Given the description of an element on the screen output the (x, y) to click on. 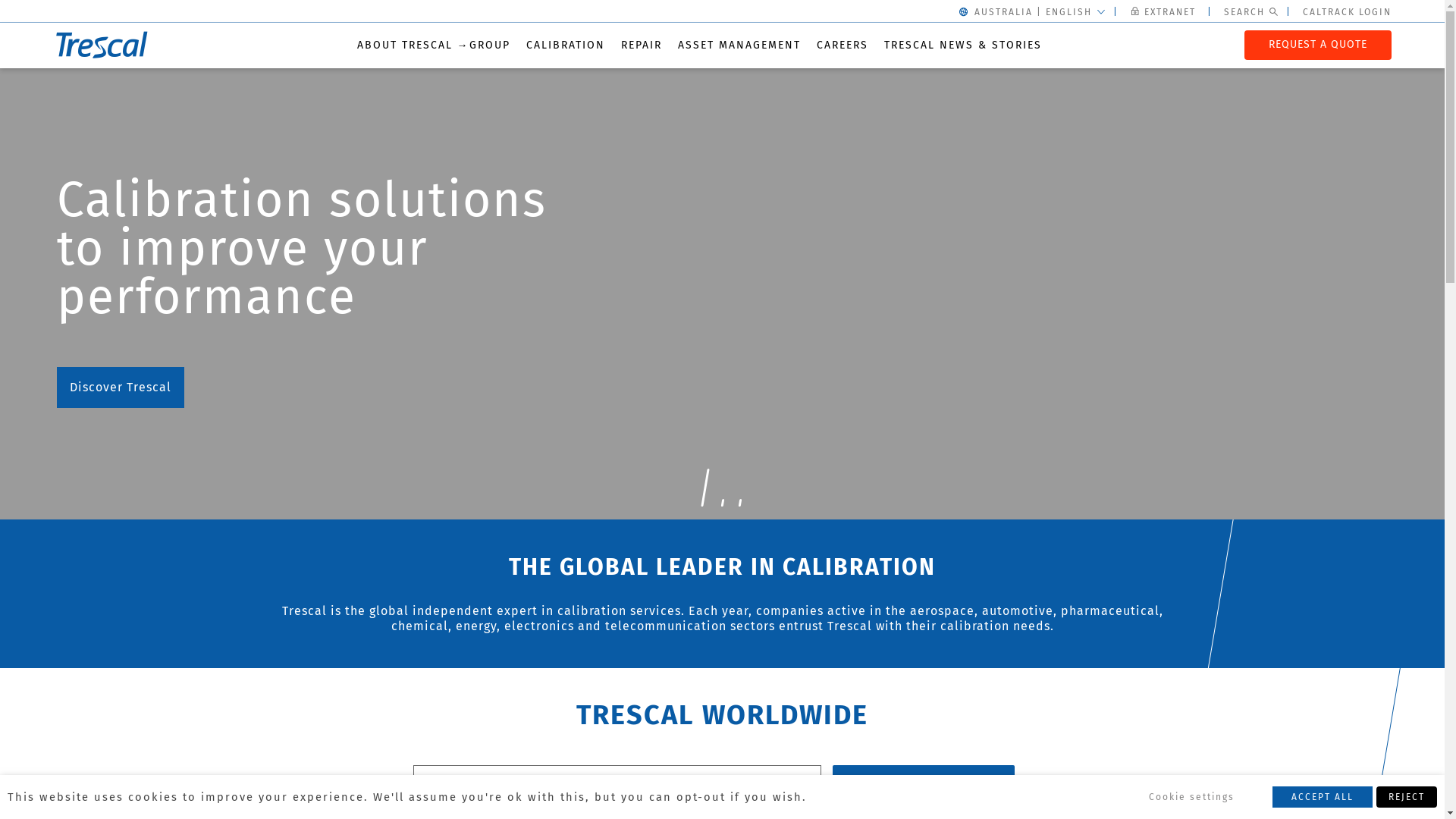
ACCEPT ALL Element type: text (1322, 796)
TRESCAL NEWS & STORIES Element type: text (962, 44)
ASSET MANAGEMENT Element type: text (738, 44)
Cookie settings Element type: text (1191, 796)
SEARCH Element type: text (923, 781)
CAREERS Element type: text (841, 44)
CALIBRATION Element type: text (565, 44)
CALTRACK LOGIN Element type: text (1346, 11)
EXTRANET Element type: text (1165, 11)
REPAIR Element type: text (640, 44)
REQUEST A QUOTE Element type: text (1317, 43)
Discover our job offers Element type: text (139, 338)
REJECT Element type: text (1406, 796)
